Given the description of an element on the screen output the (x, y) to click on. 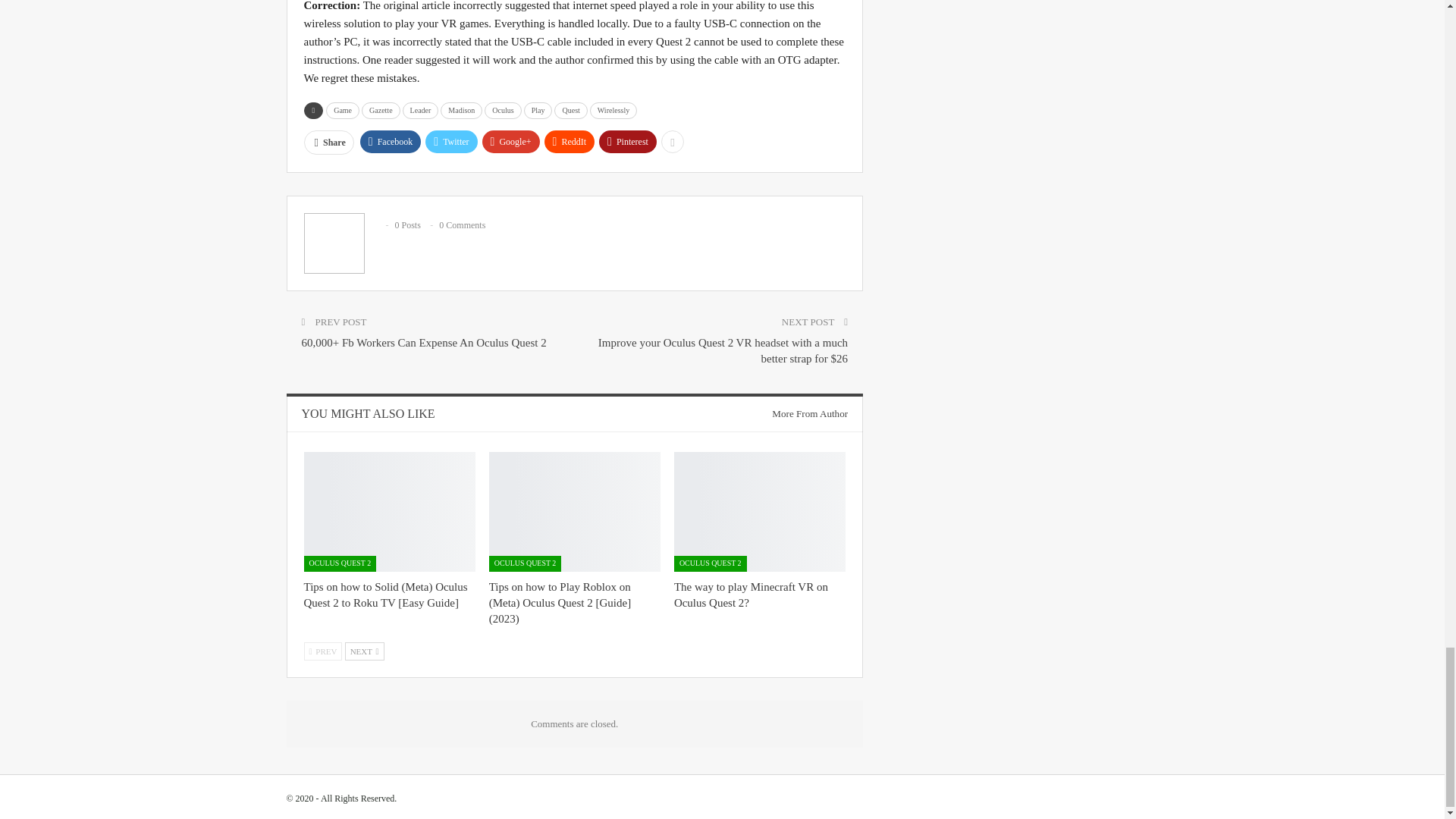
Next (364, 651)
Play (538, 110)
Facebook (390, 141)
The way to play Minecraft VR on Oculus Quest 2? (759, 511)
Leader (421, 110)
Game (342, 110)
Madison (461, 110)
Pinterest (627, 141)
Quest (570, 110)
The way to play Minecraft VR on Oculus Quest 2? (751, 594)
